Given the description of an element on the screen output the (x, y) to click on. 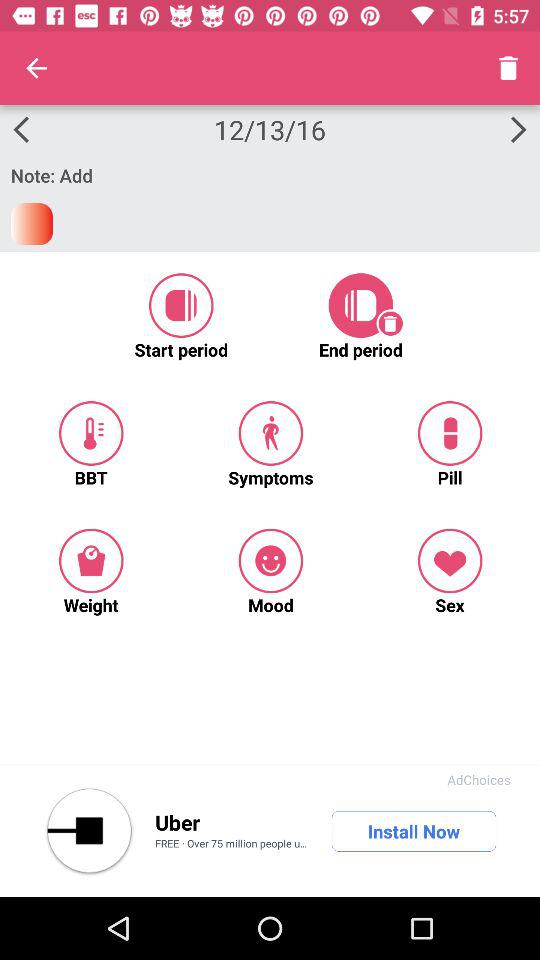
press item above the install now item (478, 779)
